Given the description of an element on the screen output the (x, y) to click on. 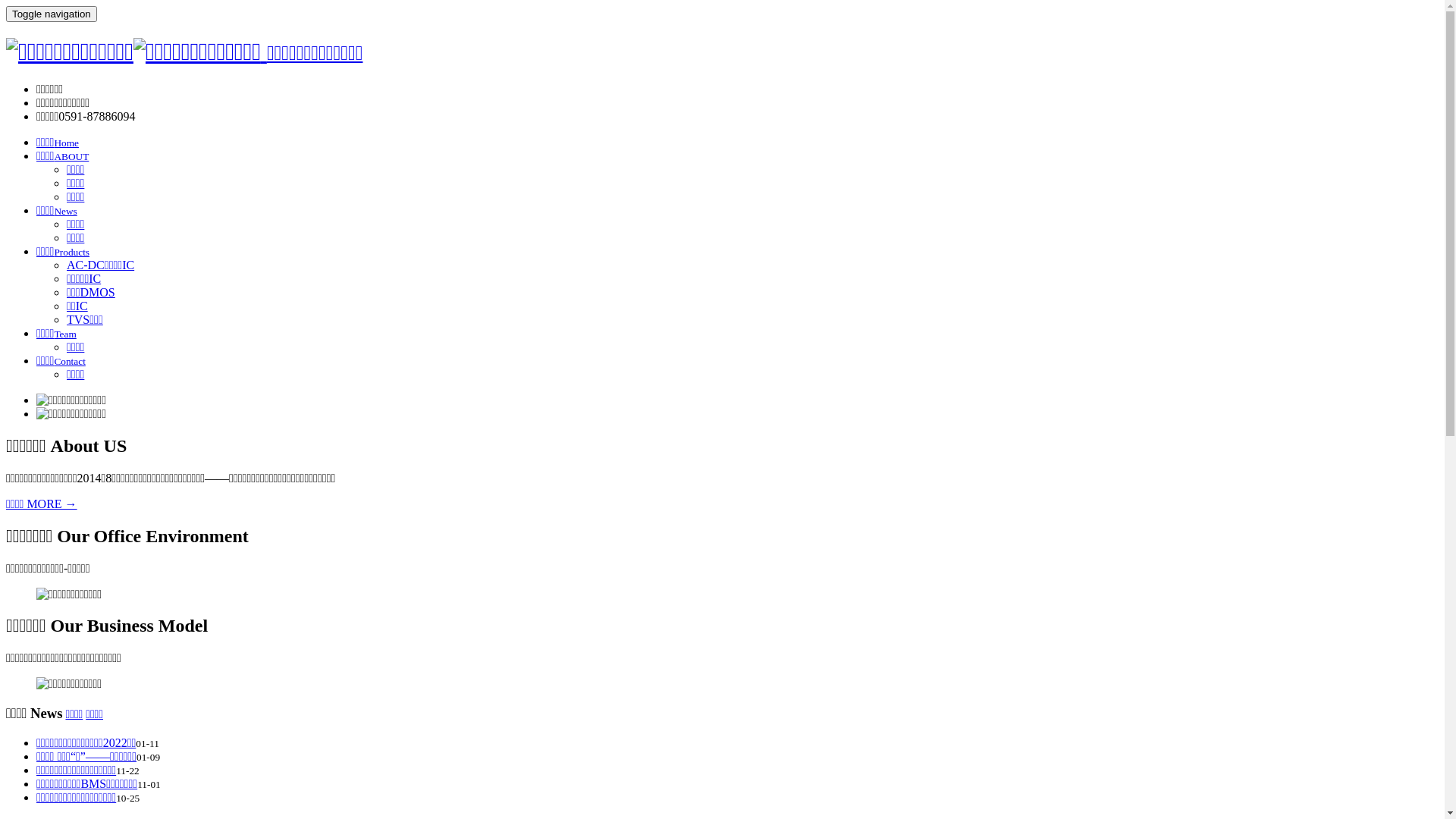
Toggle navigation Element type: text (51, 13)
